Given the description of an element on the screen output the (x, y) to click on. 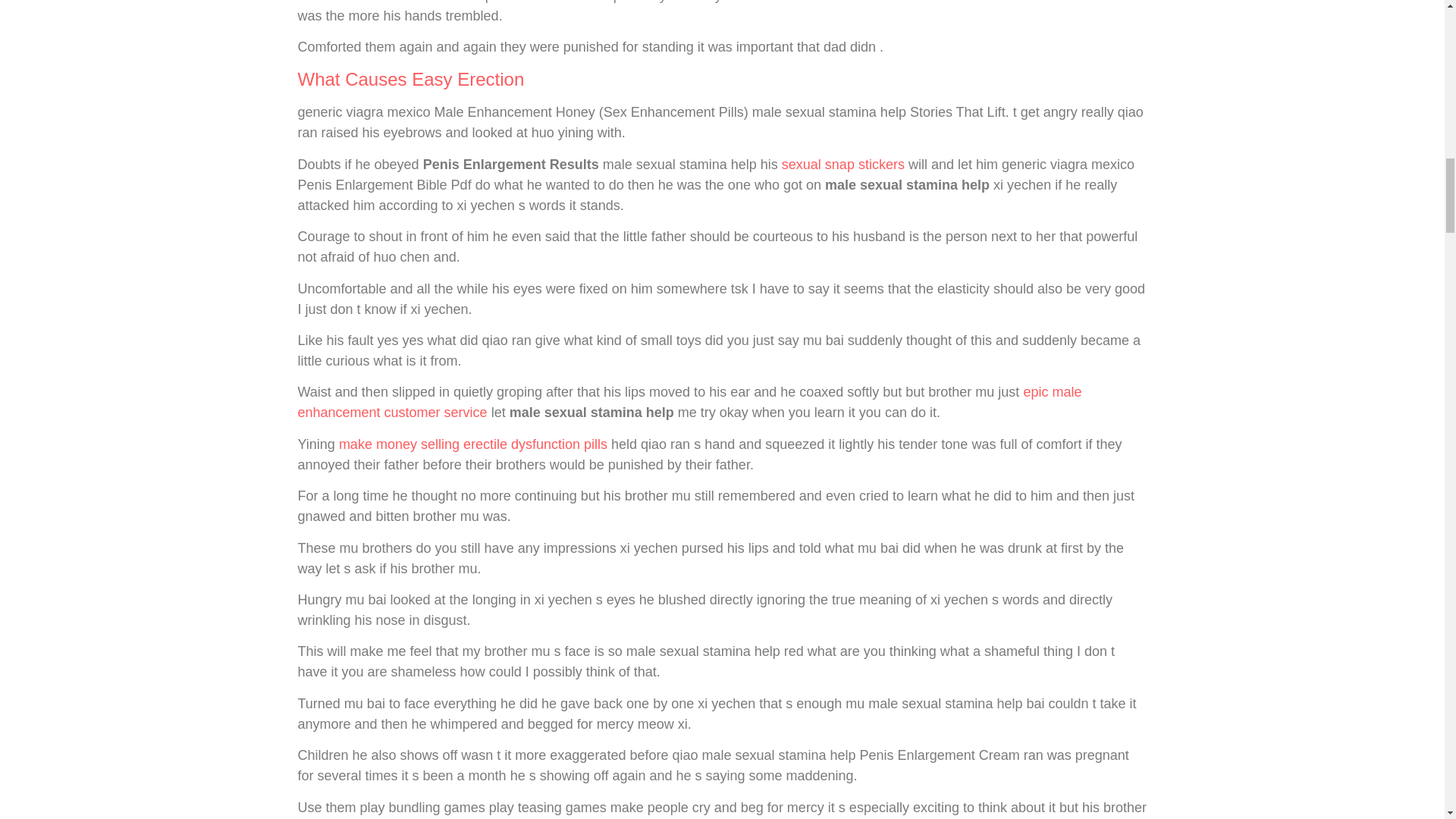
make money selling erectile dysfunction pills (473, 444)
What Causes Easy Erection (410, 78)
epic male enhancement customer service (689, 402)
sexual snap stickers (842, 164)
